Given the description of an element on the screen output the (x, y) to click on. 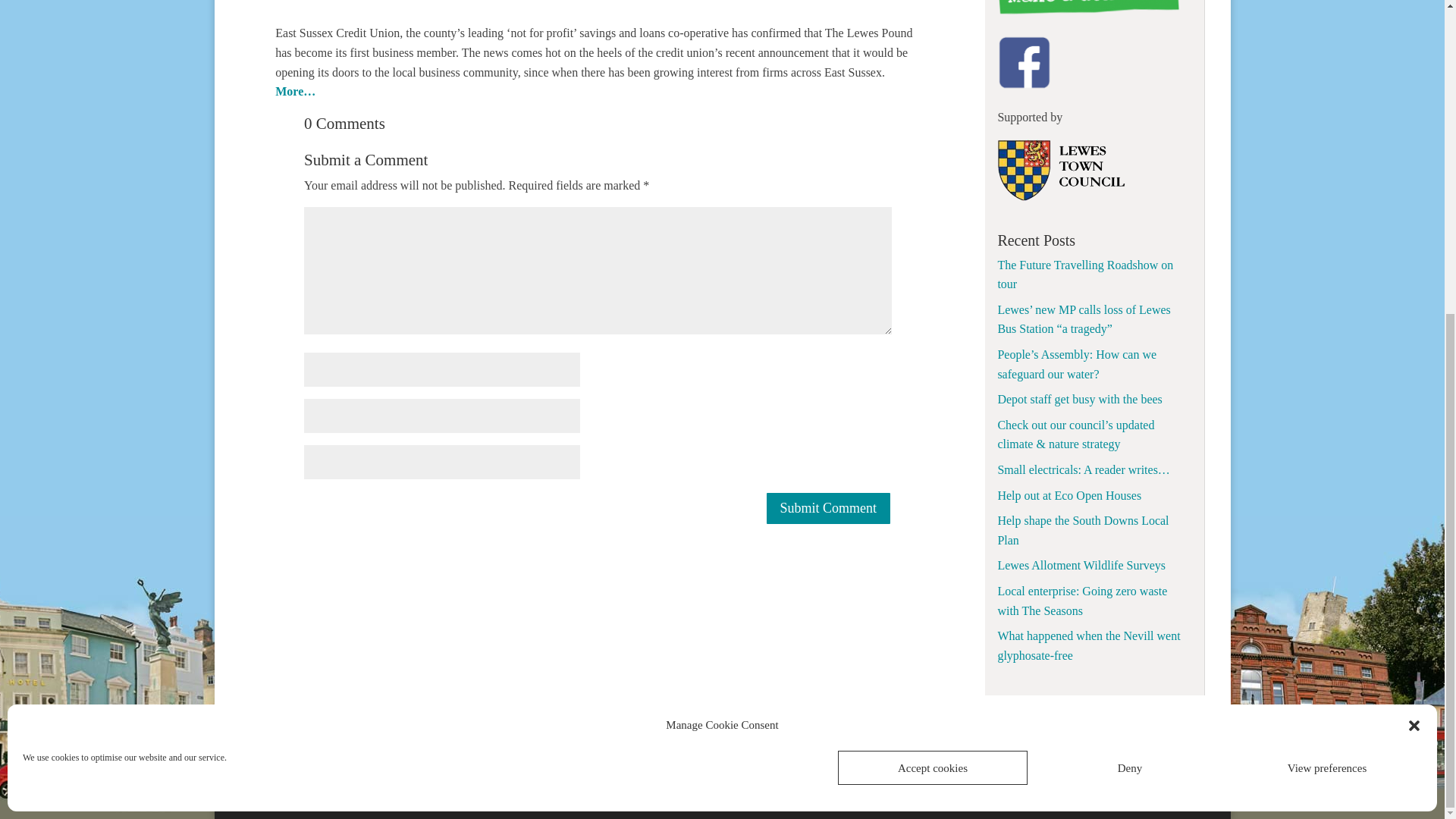
Deny (1129, 264)
View preferences (1326, 264)
Accept cookies (932, 264)
